Given the description of an element on the screen output the (x, y) to click on. 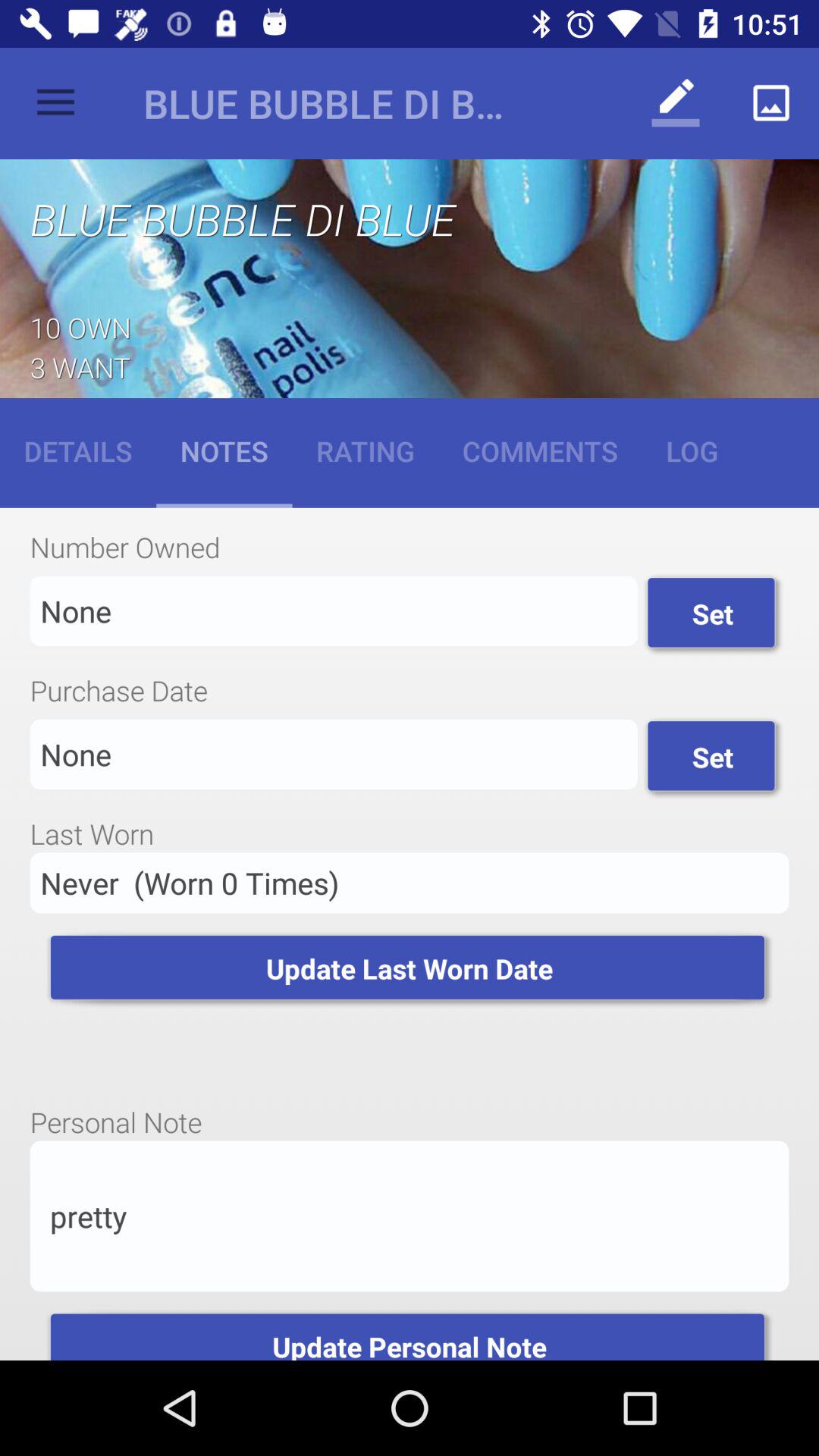
turn off item to the right of rating (540, 450)
